Given the description of an element on the screen output the (x, y) to click on. 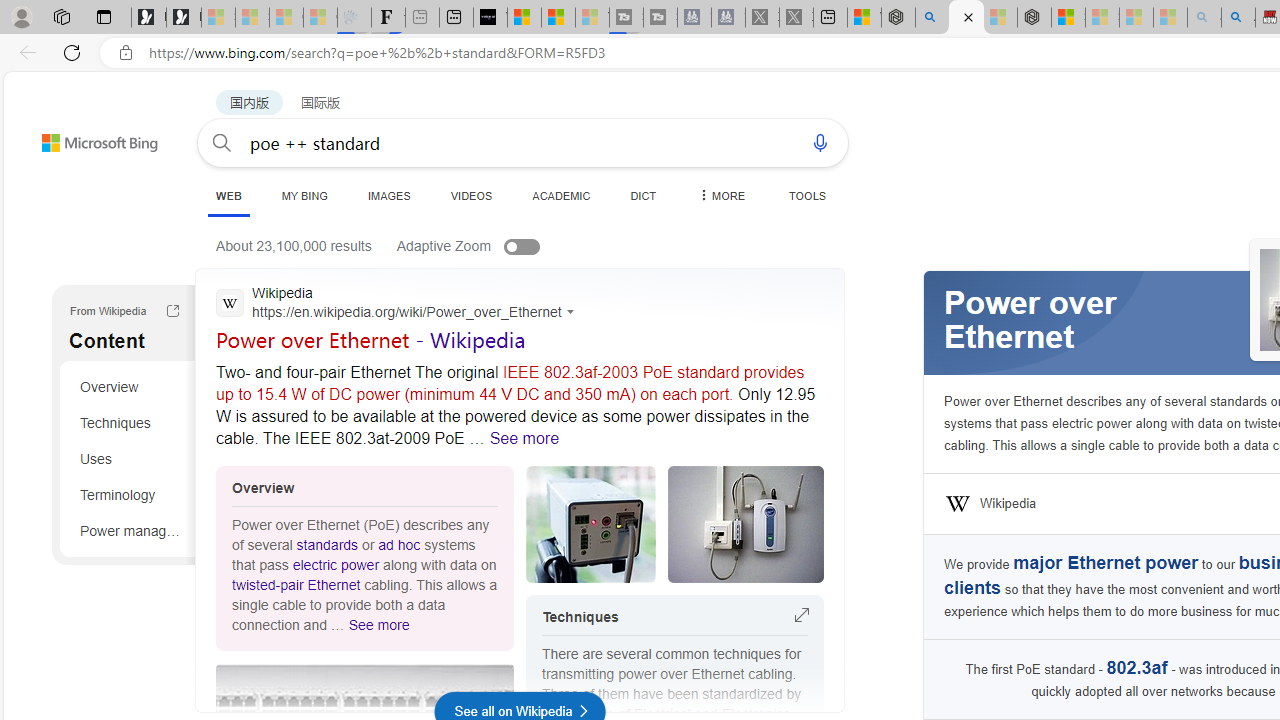
Streaming Coverage | T3 - Sleeping (626, 17)
Power over Ethernet - Wikipedia (371, 339)
X - Sleeping (795, 17)
Nordace - Nordace Siena Is Not An Ordinary Backpack (1033, 17)
Overview (130, 385)
DICT (643, 195)
Amazon Echo Dot PNG - Search Images (1238, 17)
TOOLS (807, 195)
Back to Bing search (87, 138)
poe - Search (932, 17)
